Given the description of an element on the screen output the (x, y) to click on. 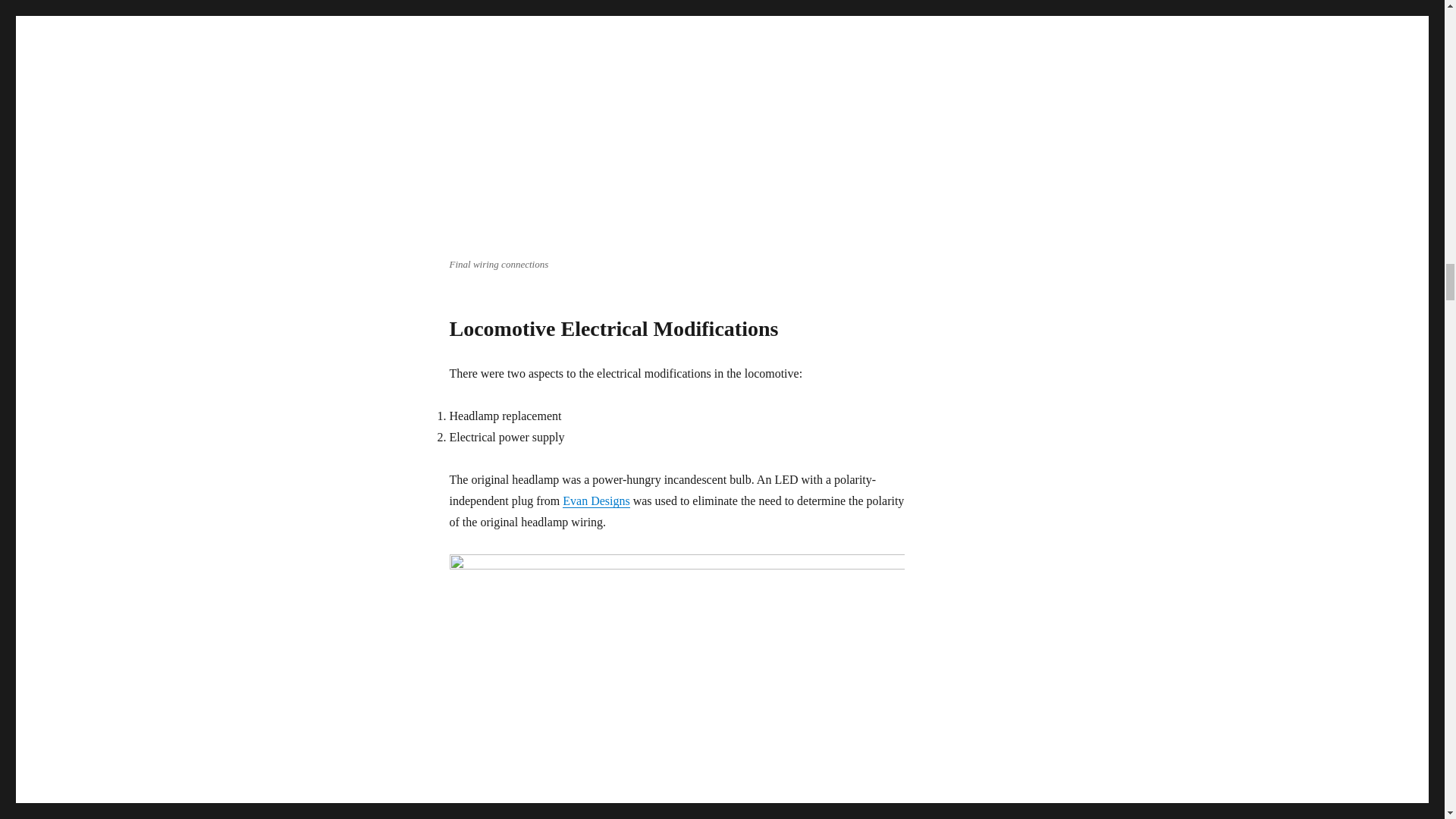
Evan Designs (595, 500)
